Given the description of an element on the screen output the (x, y) to click on. 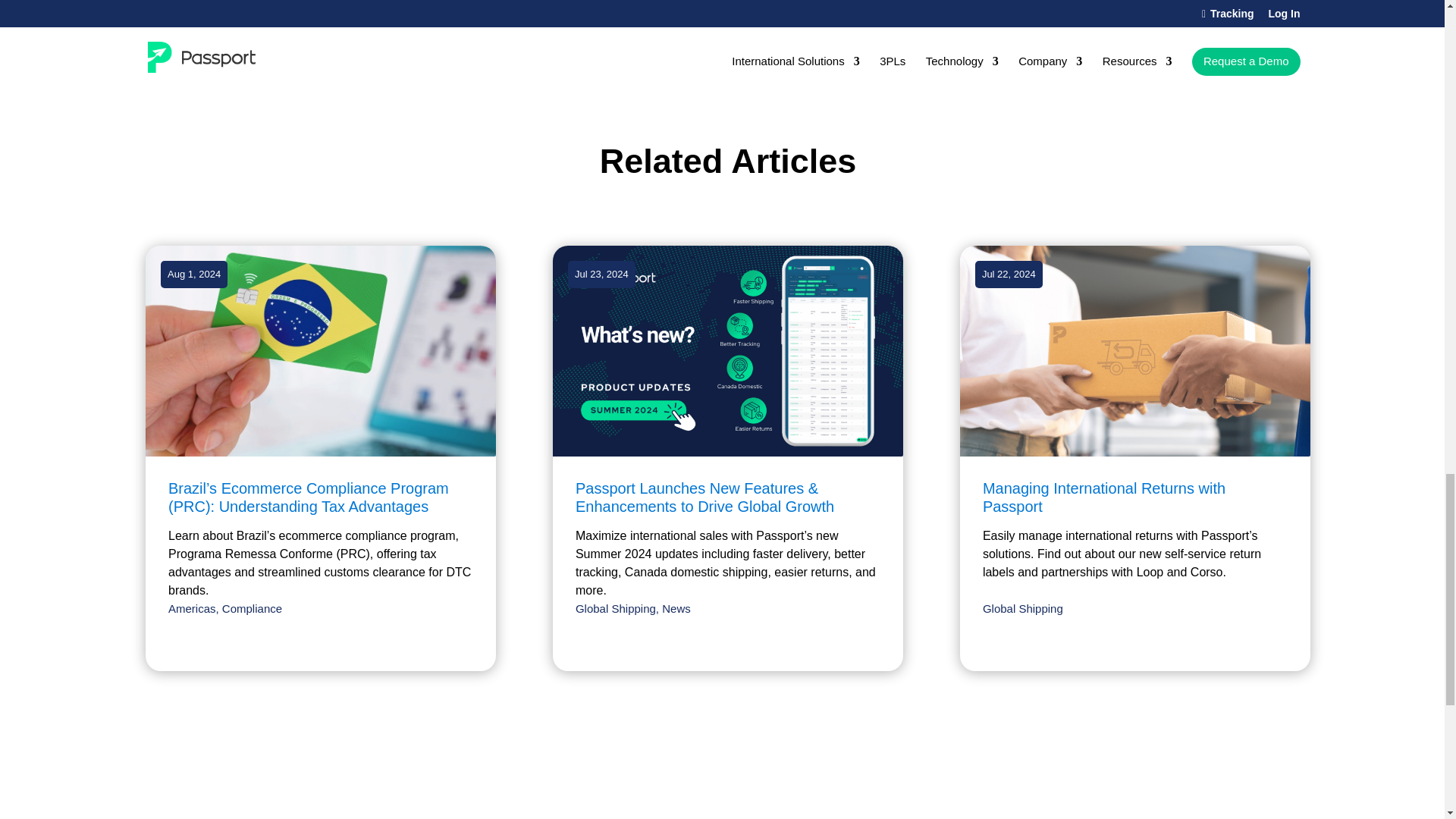
proshipinc.com (505, 5)
Americas (191, 608)
